Given the description of an element on the screen output the (x, y) to click on. 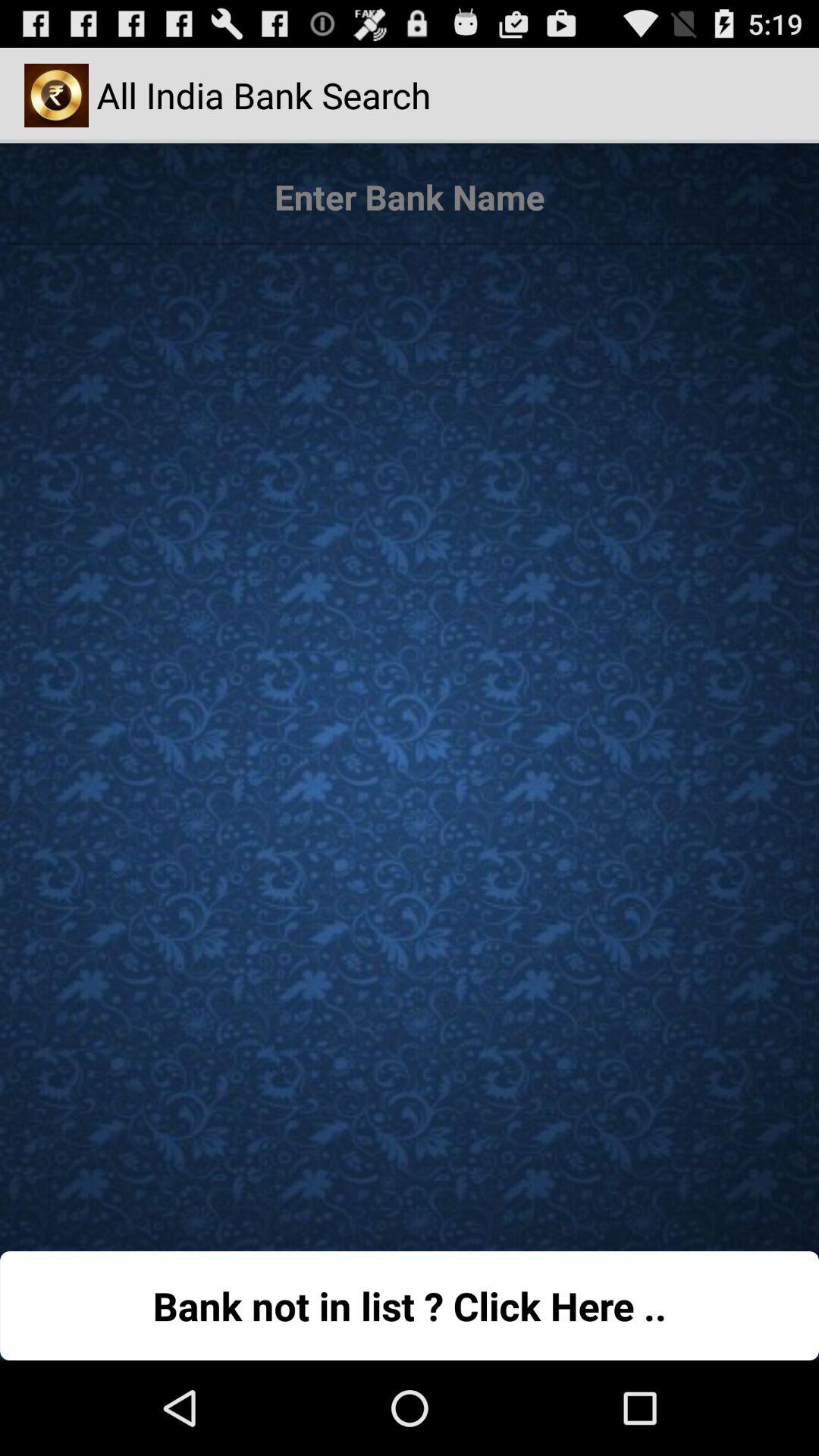
jump until bank not in item (409, 1305)
